Given the description of an element on the screen output the (x, y) to click on. 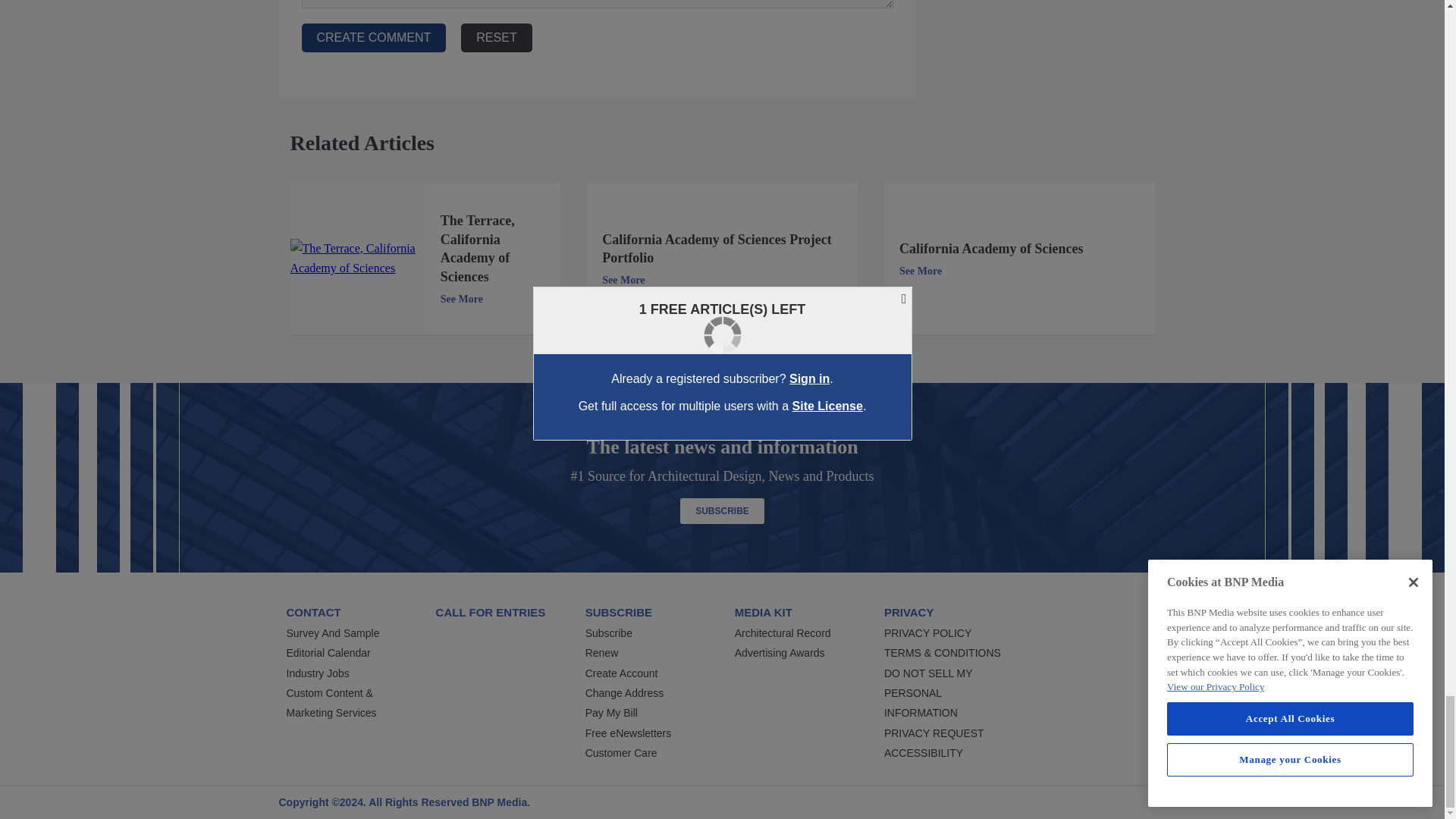
The Terrace, California Academy of Sciences (357, 259)
Create Comment (373, 37)
Reset (496, 37)
